Given the description of an element on the screen output the (x, y) to click on. 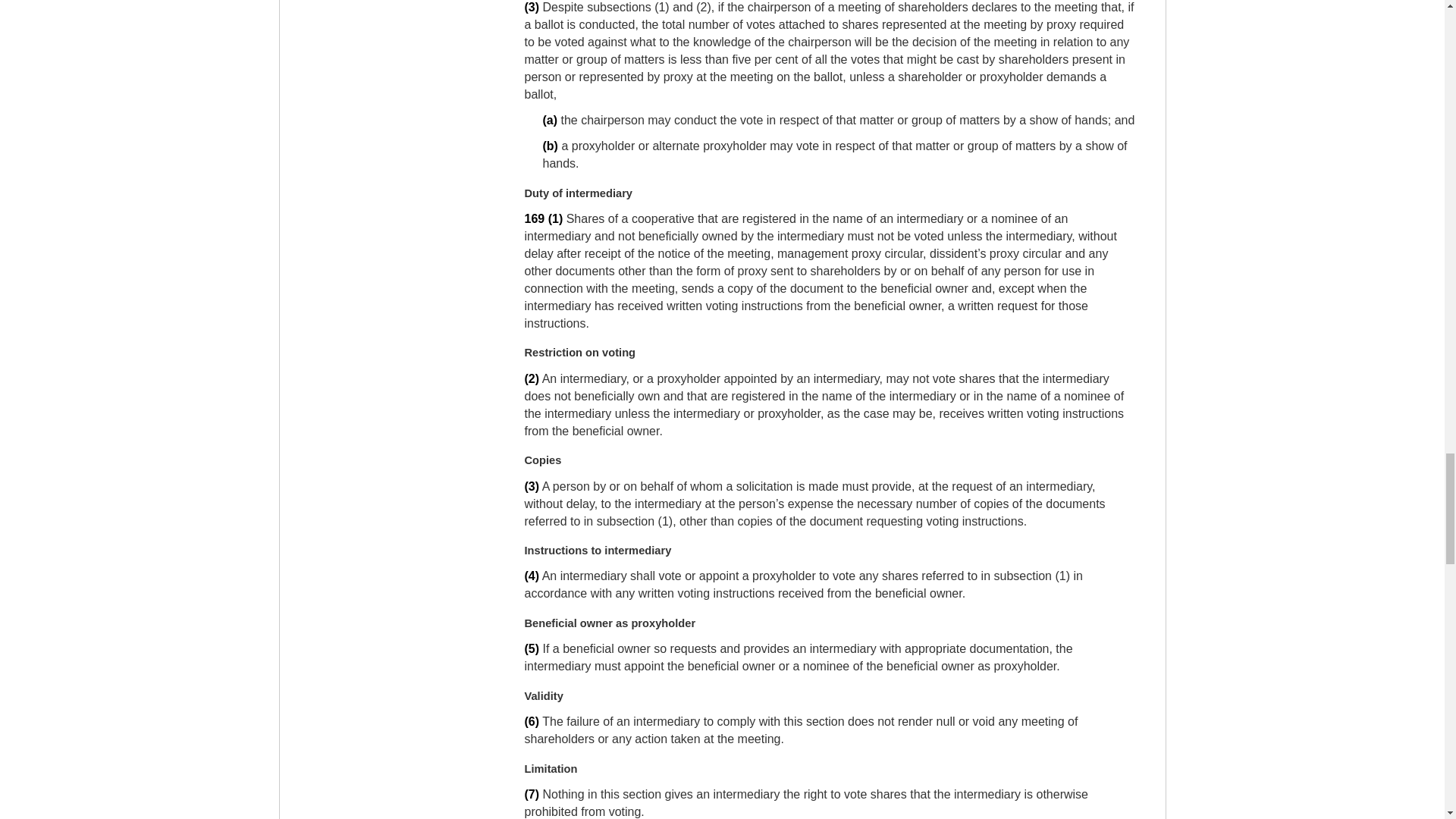
169 (534, 218)
